Given the description of an element on the screen output the (x, y) to click on. 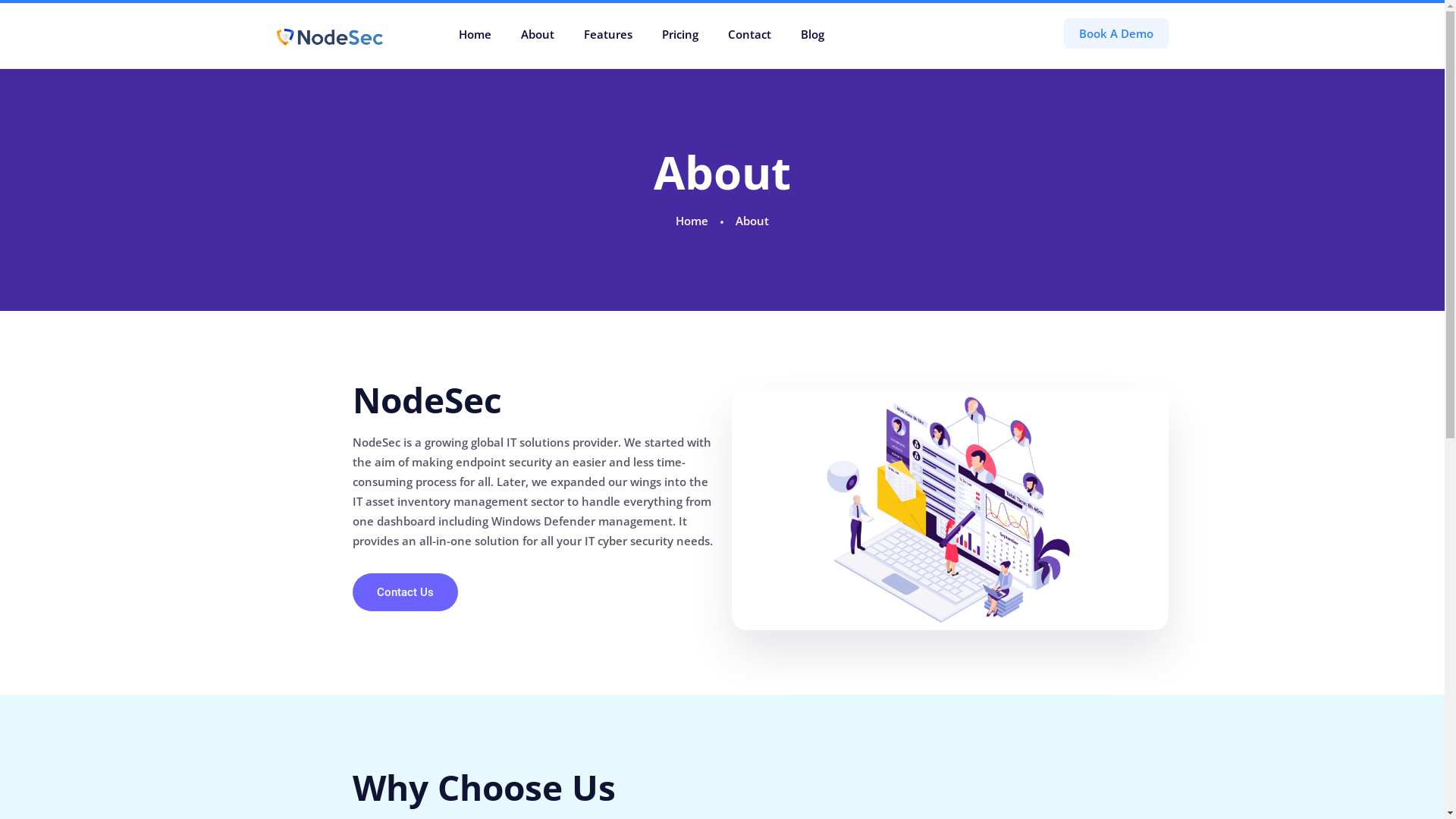
About Element type: text (536, 35)
Book A Demo Element type: text (1115, 33)
Features Element type: text (607, 35)
Contact Element type: text (749, 35)
Contact Us Element type: text (404, 592)
Home Element type: text (474, 35)
Home Element type: text (691, 220)
Pricing Element type: text (679, 35)
Blog Element type: text (812, 35)
